Given the description of an element on the screen output the (x, y) to click on. 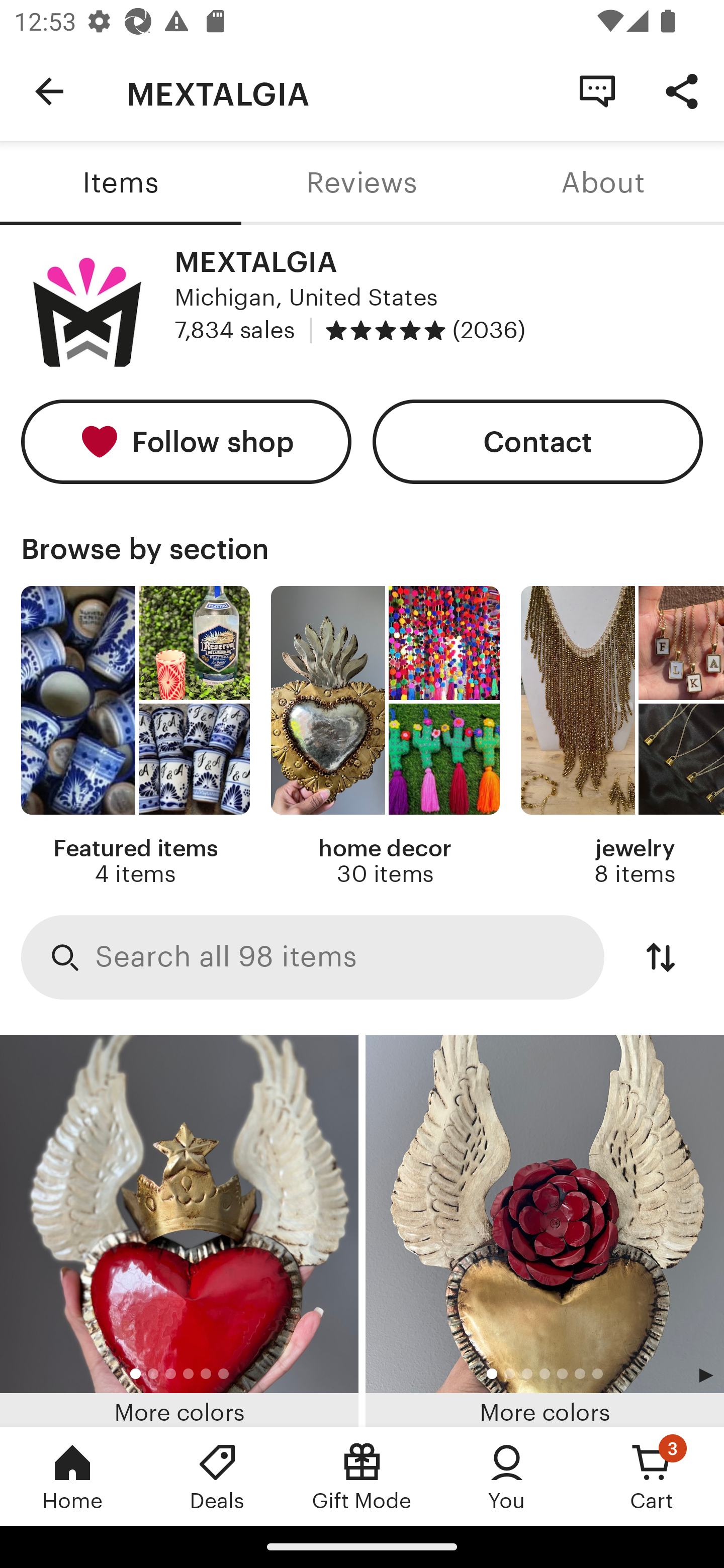
Navigate up (49, 91)
Contact Shop (597, 90)
Share (681, 90)
Reviews (361, 183)
About (603, 183)
Follow shop (185, 441)
Contact (537, 441)
Featured items 4 items (134, 736)
home decor 30 items (384, 736)
jewelry 8 items (622, 736)
Search Search all 98 items (312, 957)
More colors (179, 1230)
More colors (544, 1230)
Deals (216, 1475)
Gift Mode (361, 1475)
You (506, 1475)
Cart, 3 new notifications Cart (651, 1475)
